Given the description of an element on the screen output the (x, y) to click on. 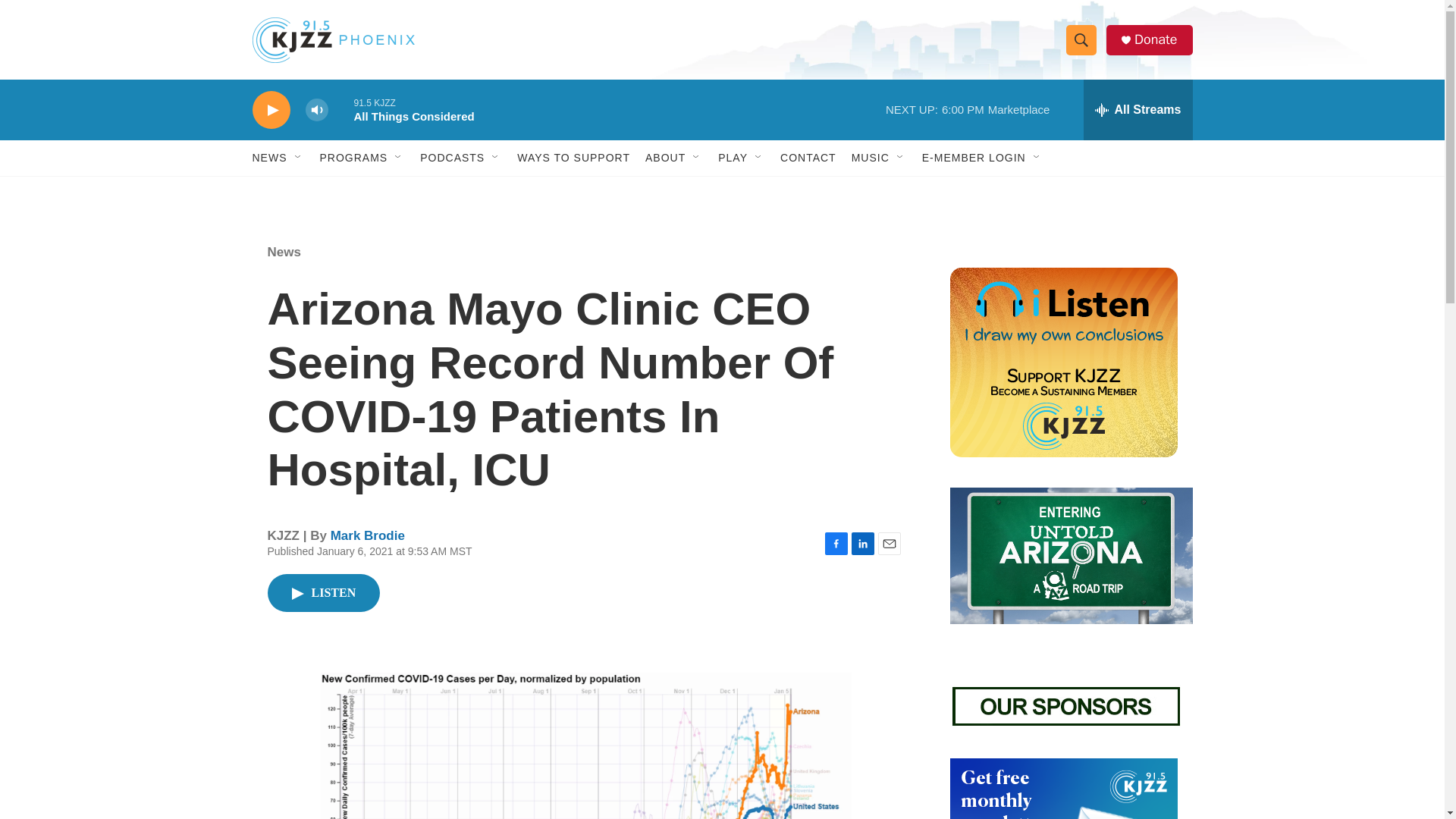
Subscribe to our newsletters (1062, 788)
